Given the description of an element on the screen output the (x, y) to click on. 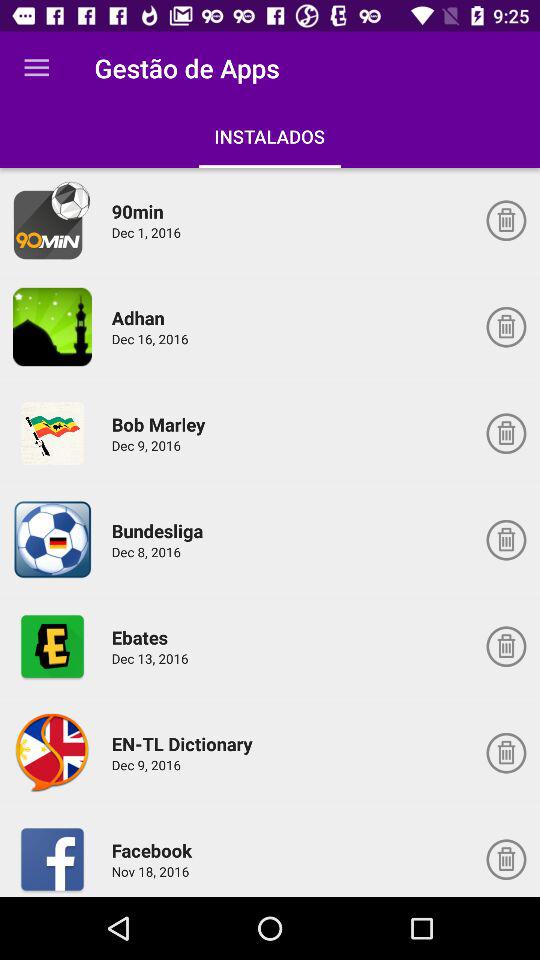
flip until facebook (154, 850)
